Given the description of an element on the screen output the (x, y) to click on. 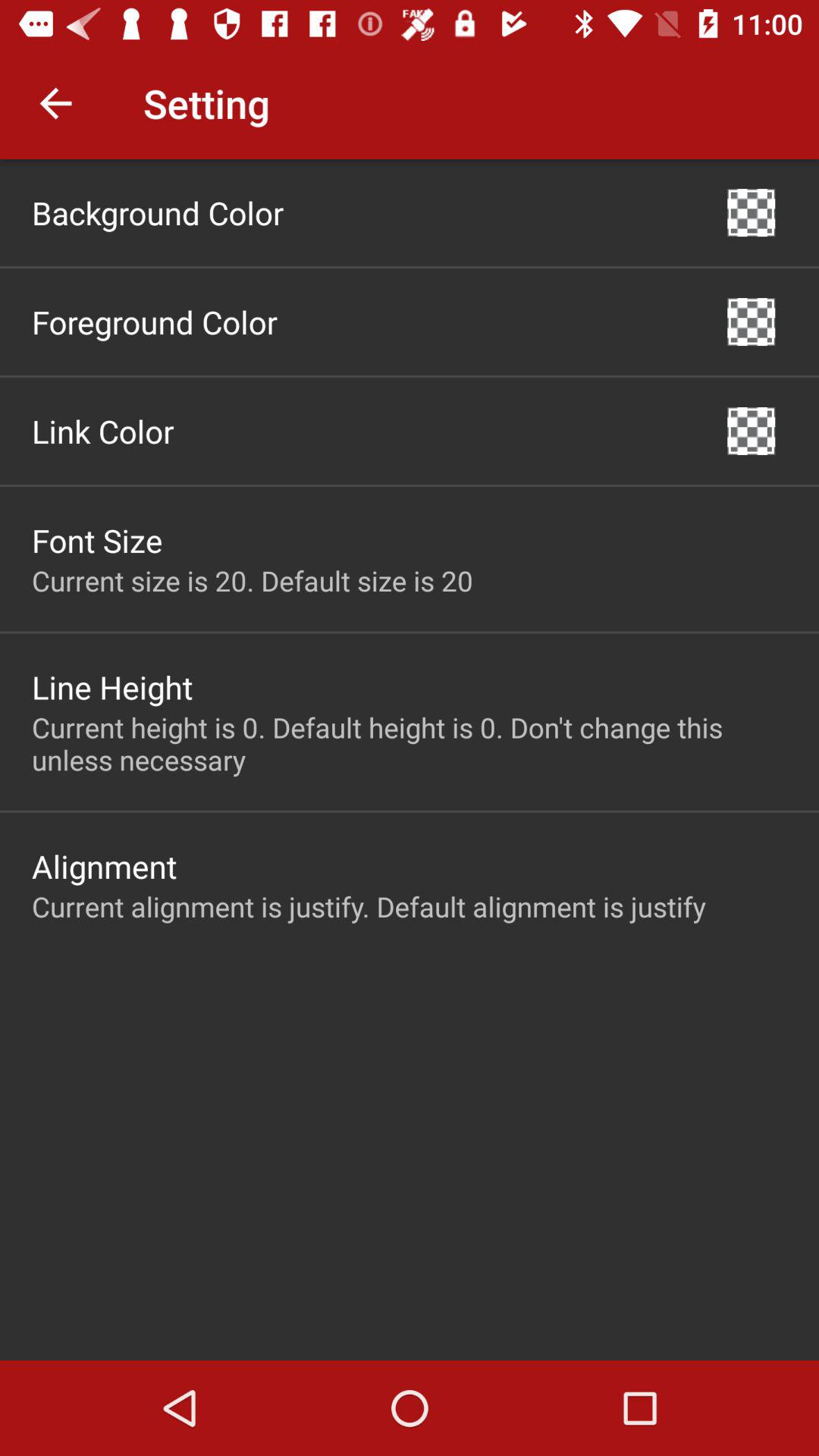
turn off icon to the right of the foreground color (751, 321)
